Given the description of an element on the screen output the (x, y) to click on. 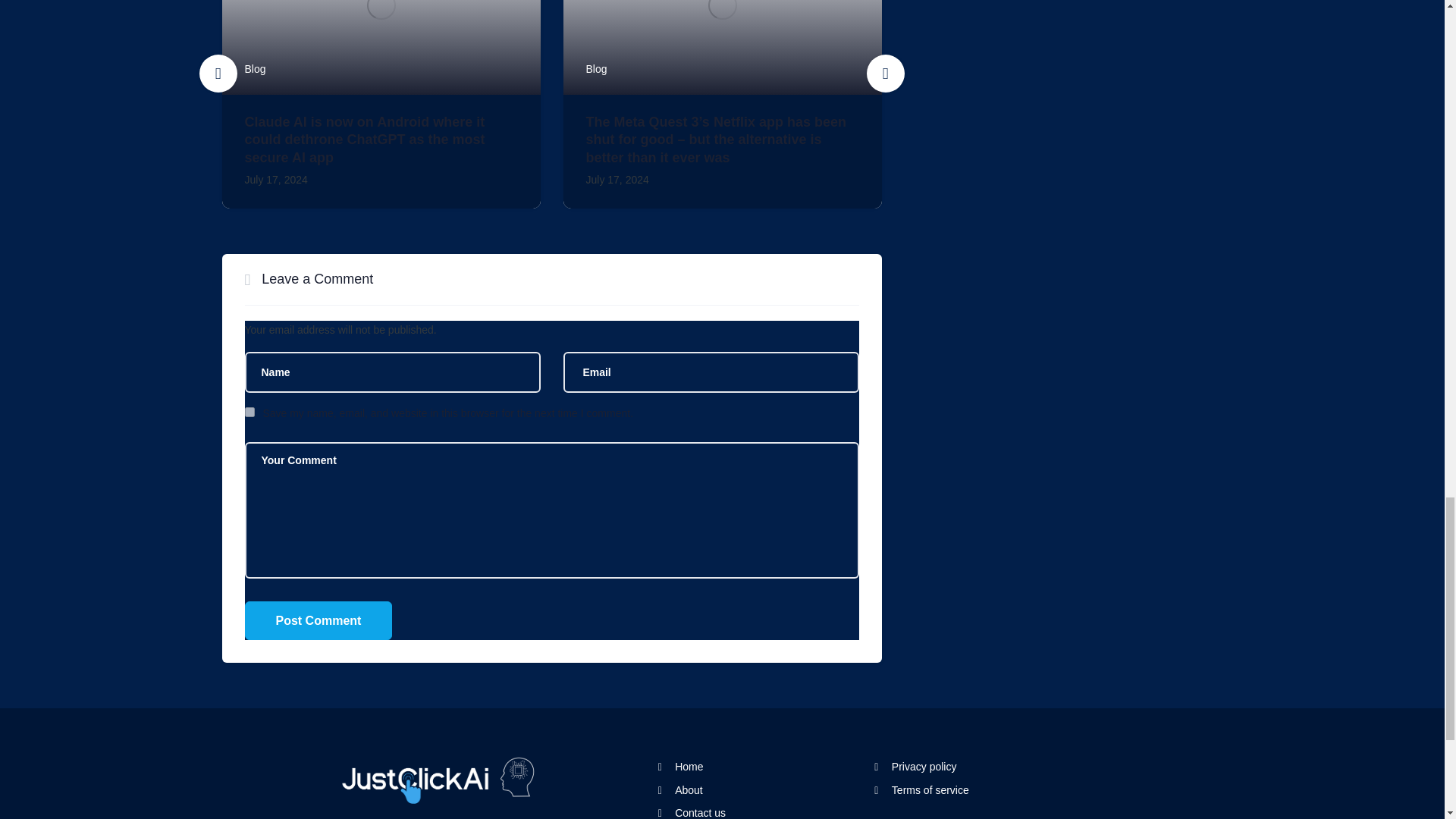
yes (248, 411)
Post Comment (317, 620)
